Given the description of an element on the screen output the (x, y) to click on. 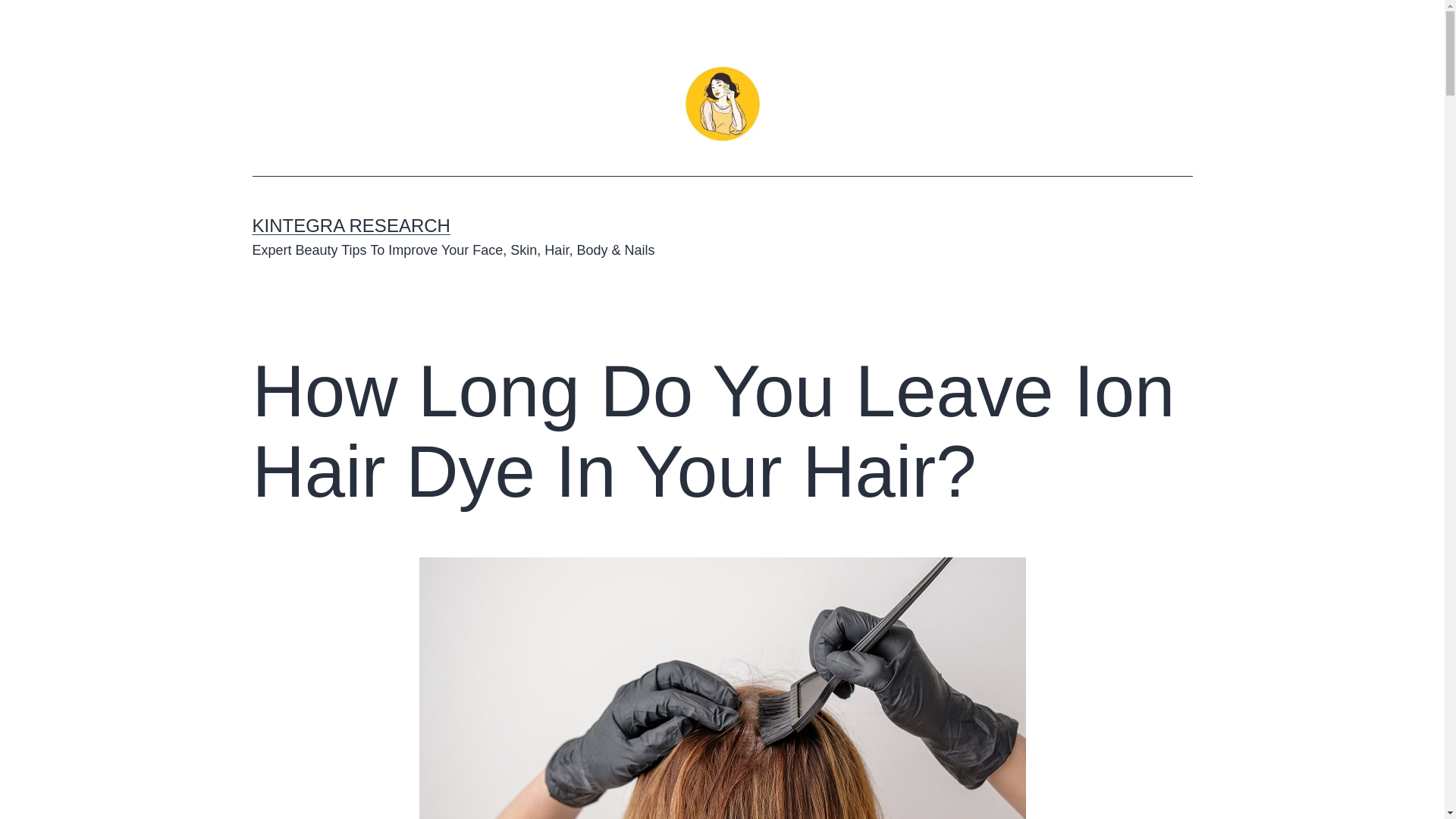
KINTEGRA RESEARCH (350, 225)
